Given the description of an element on the screen output the (x, y) to click on. 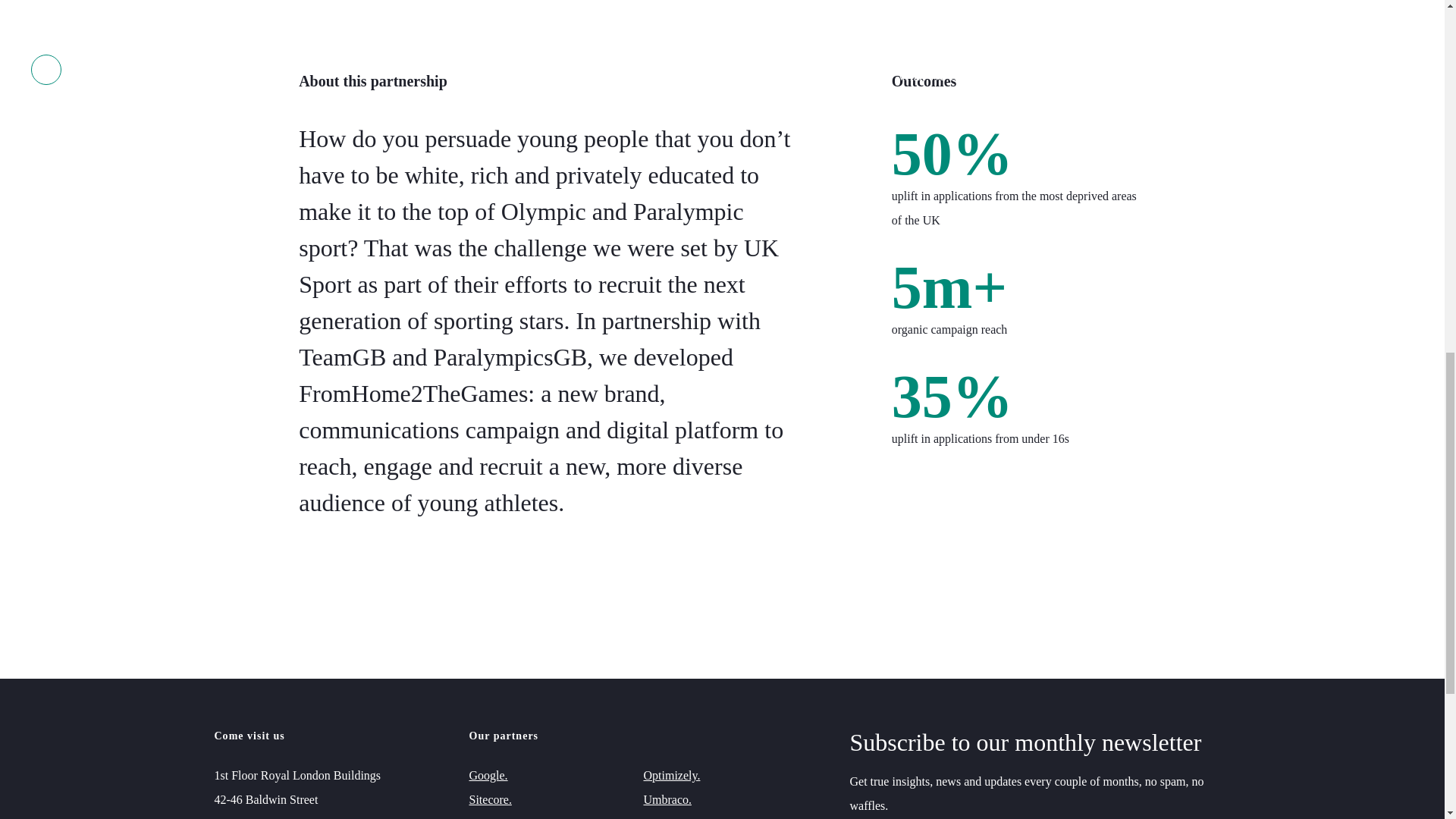
Sitecore. (489, 799)
IPA. (478, 815)
Umbraco. (667, 799)
Google. (487, 775)
Optimizely. (671, 775)
Kentico. (663, 815)
